Given the description of an element on the screen output the (x, y) to click on. 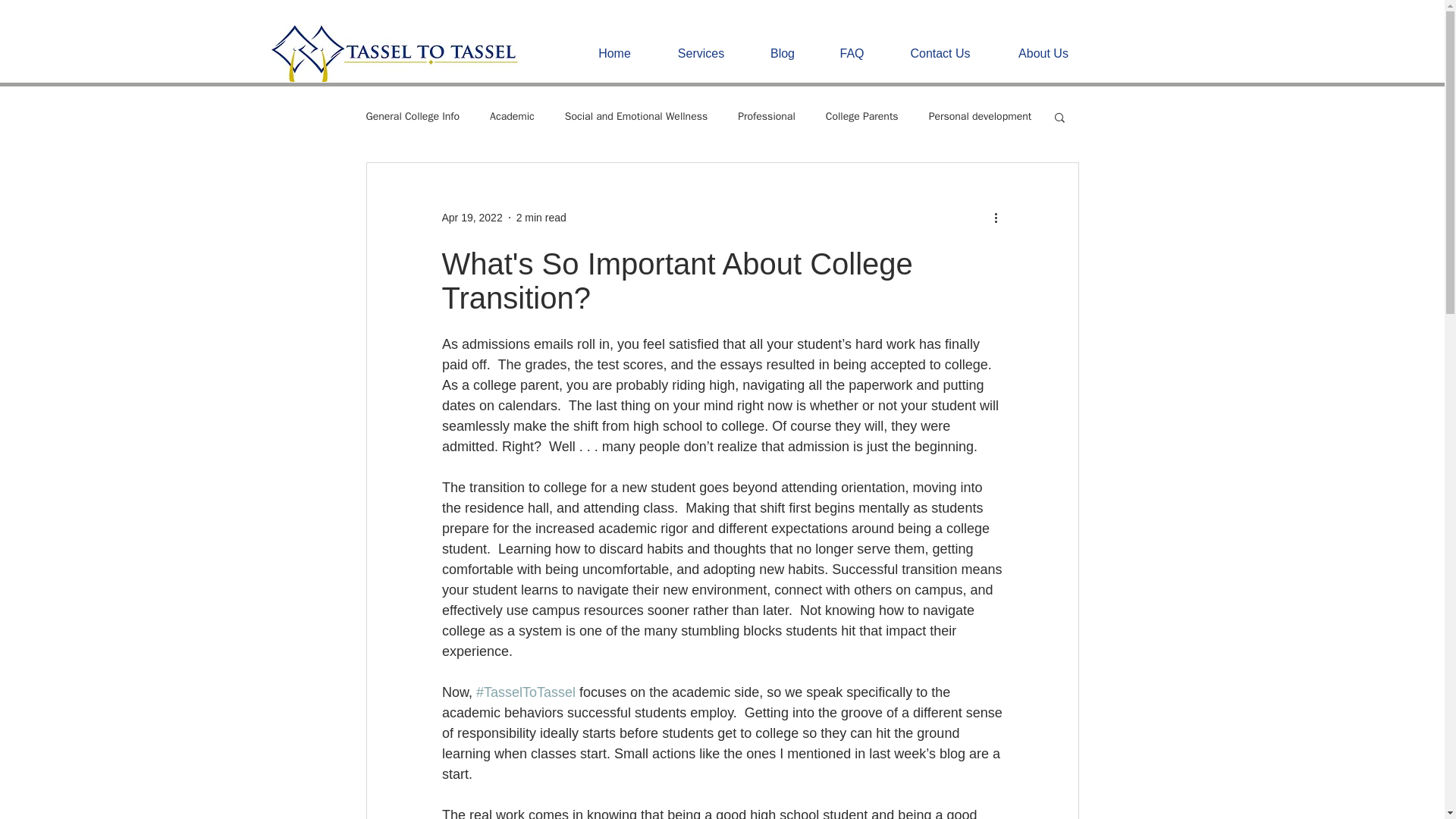
Services (701, 52)
Contact Us (939, 52)
Personal development (980, 116)
Home (615, 52)
Academic (511, 116)
College Parents (861, 116)
Social and Emotional Wellness (635, 116)
About Us (1043, 52)
FAQ (850, 52)
General College Info (412, 116)
2 min read (541, 216)
Professional (766, 116)
Blog (783, 52)
Apr 19, 2022 (471, 216)
